Given the description of an element on the screen output the (x, y) to click on. 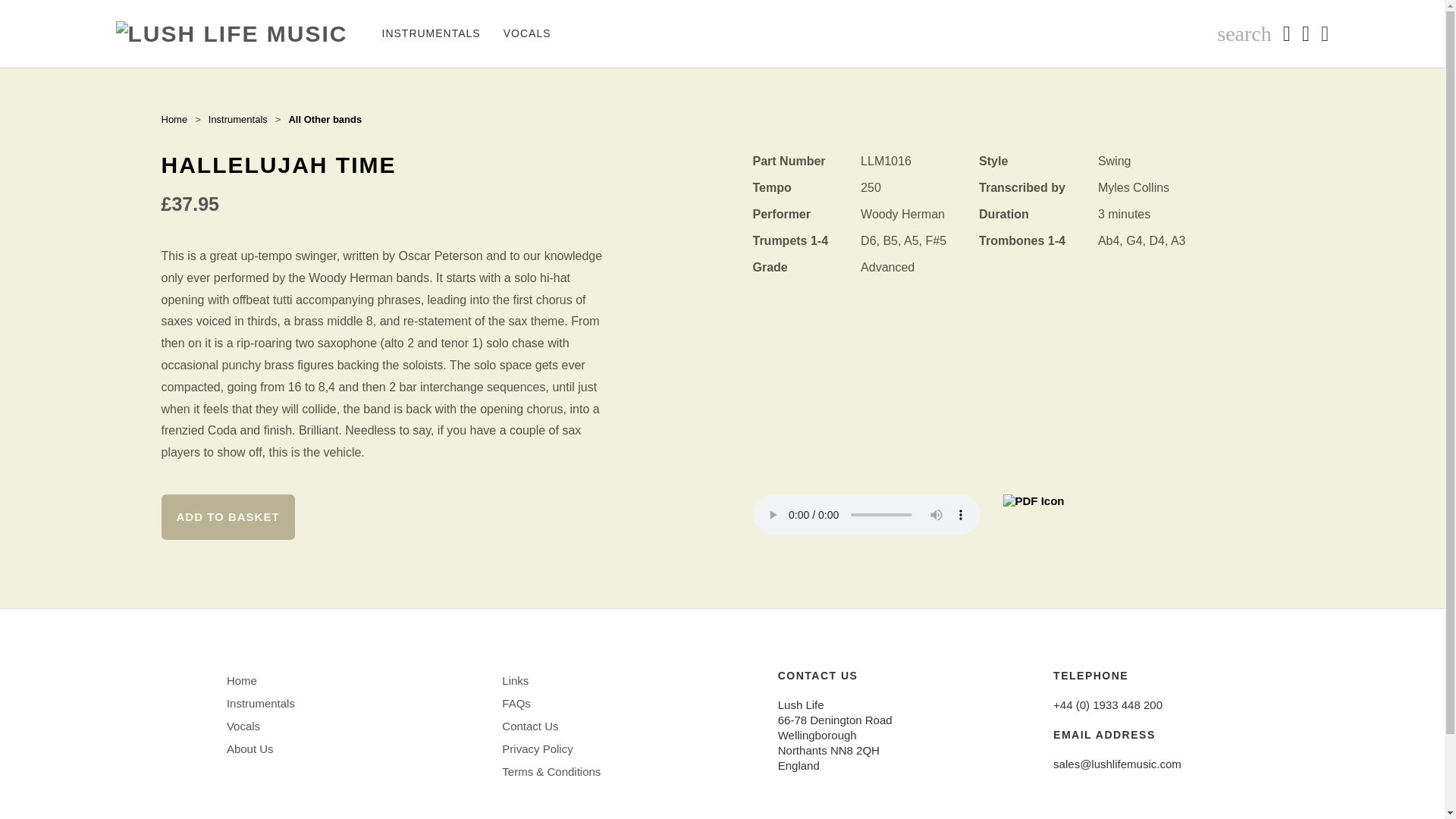
VOCALS (527, 33)
INSTRUMENTALS (430, 33)
PDF Sample (1033, 514)
